Given the description of an element on the screen output the (x, y) to click on. 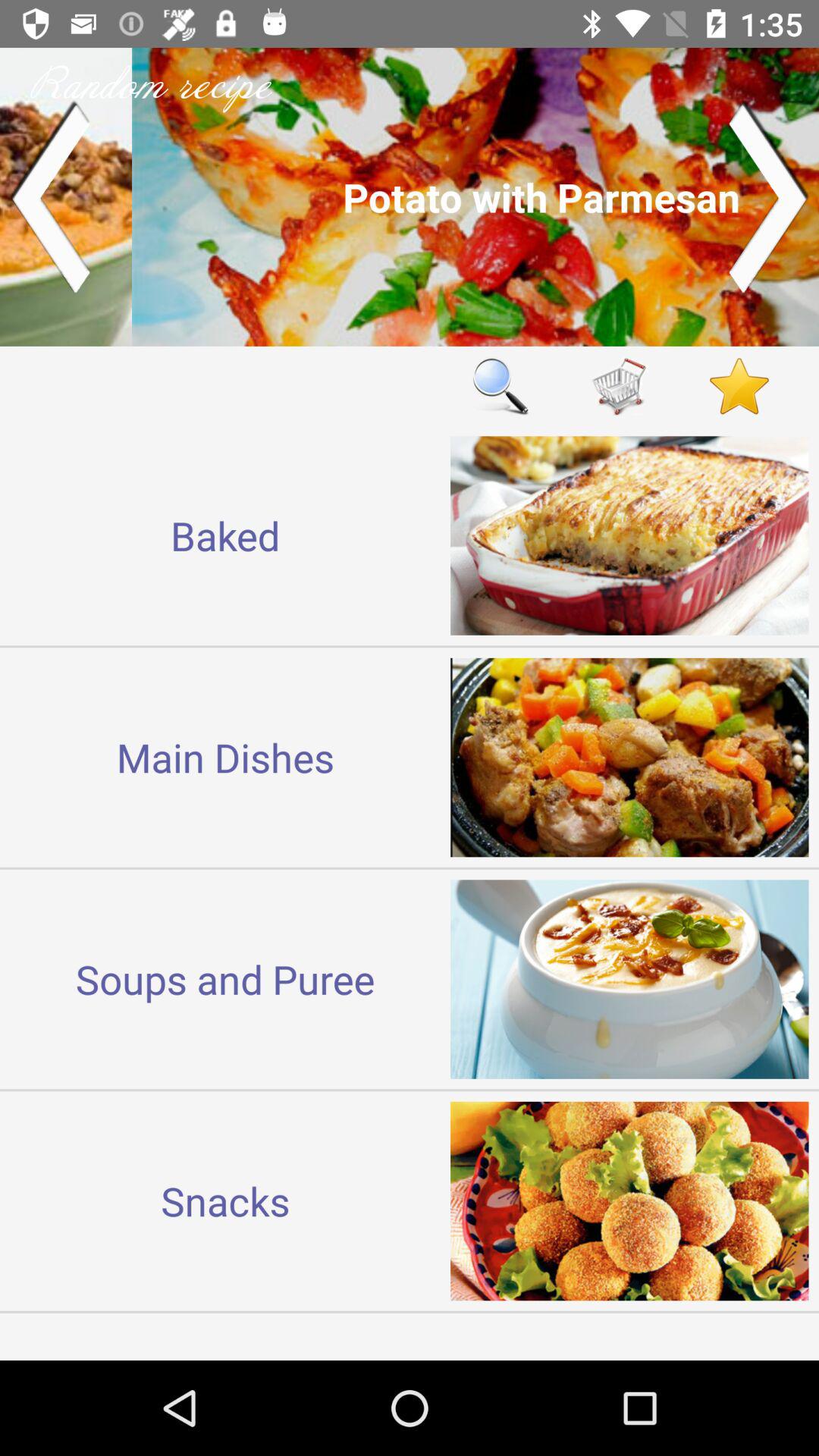
view shopping cart (619, 385)
